Given the description of an element on the screen output the (x, y) to click on. 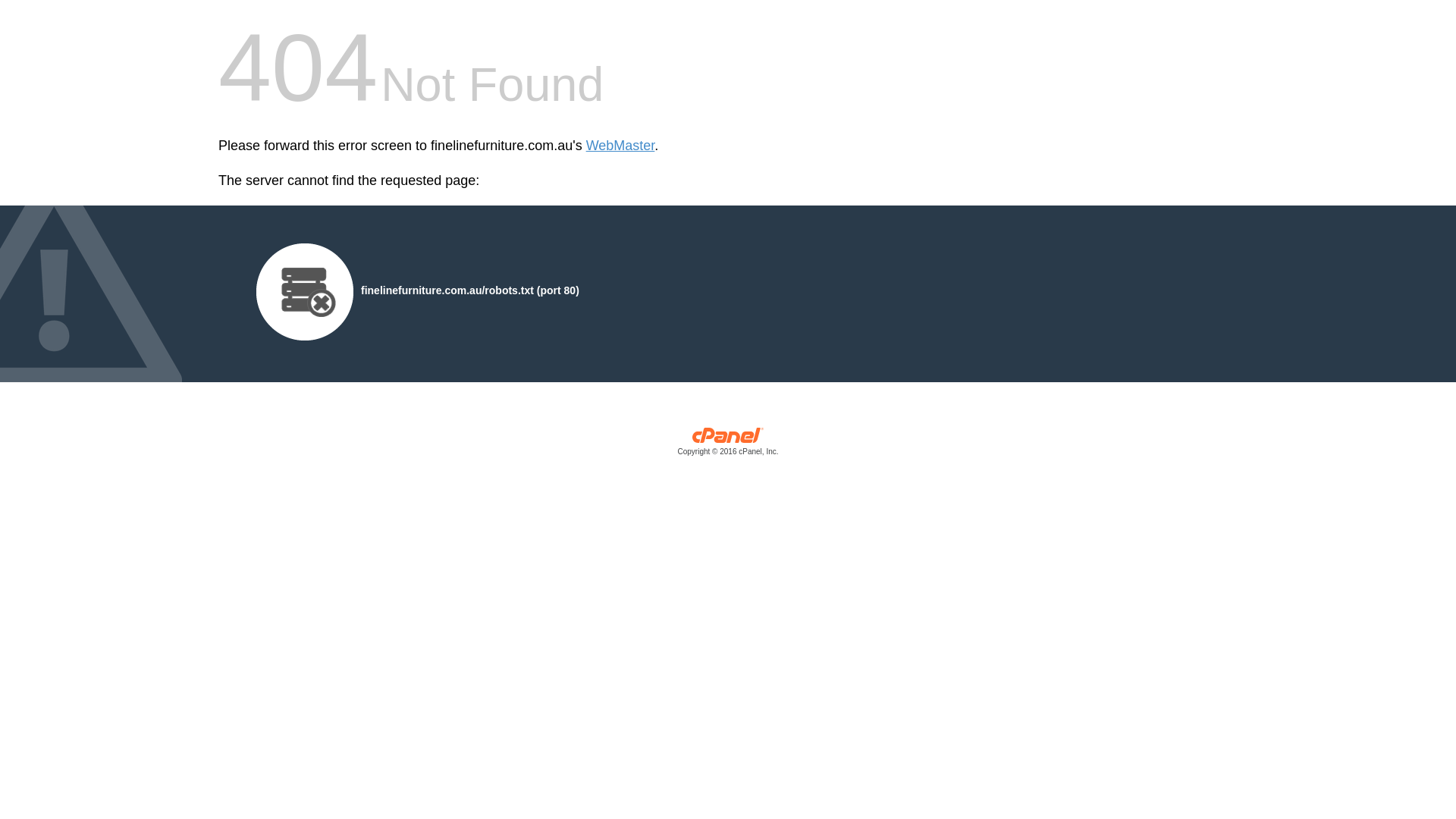
WebMaster Element type: text (620, 145)
